Given the description of an element on the screen output the (x, y) to click on. 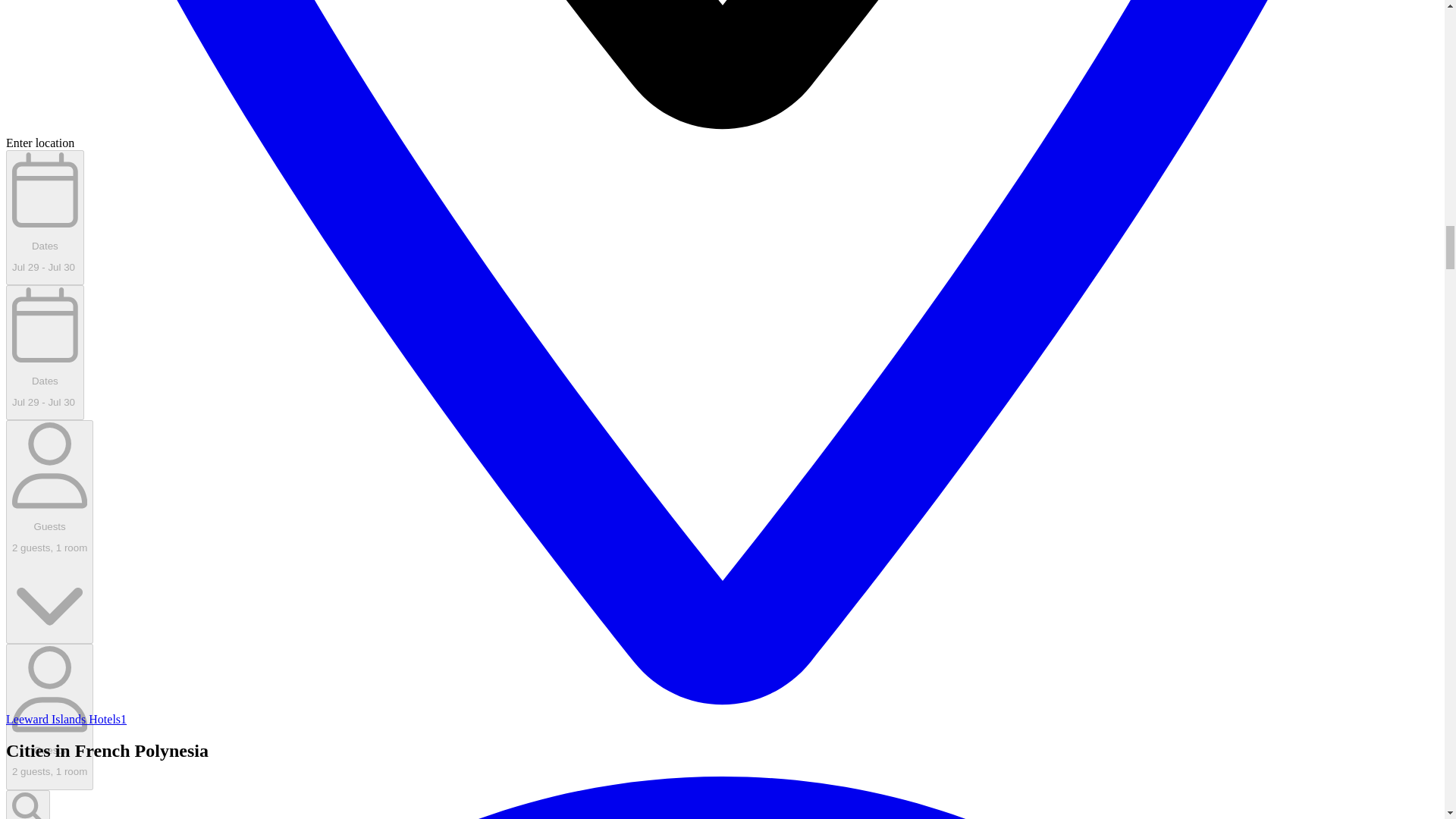
Search (27, 804)
